Given the description of an element on the screen output the (x, y) to click on. 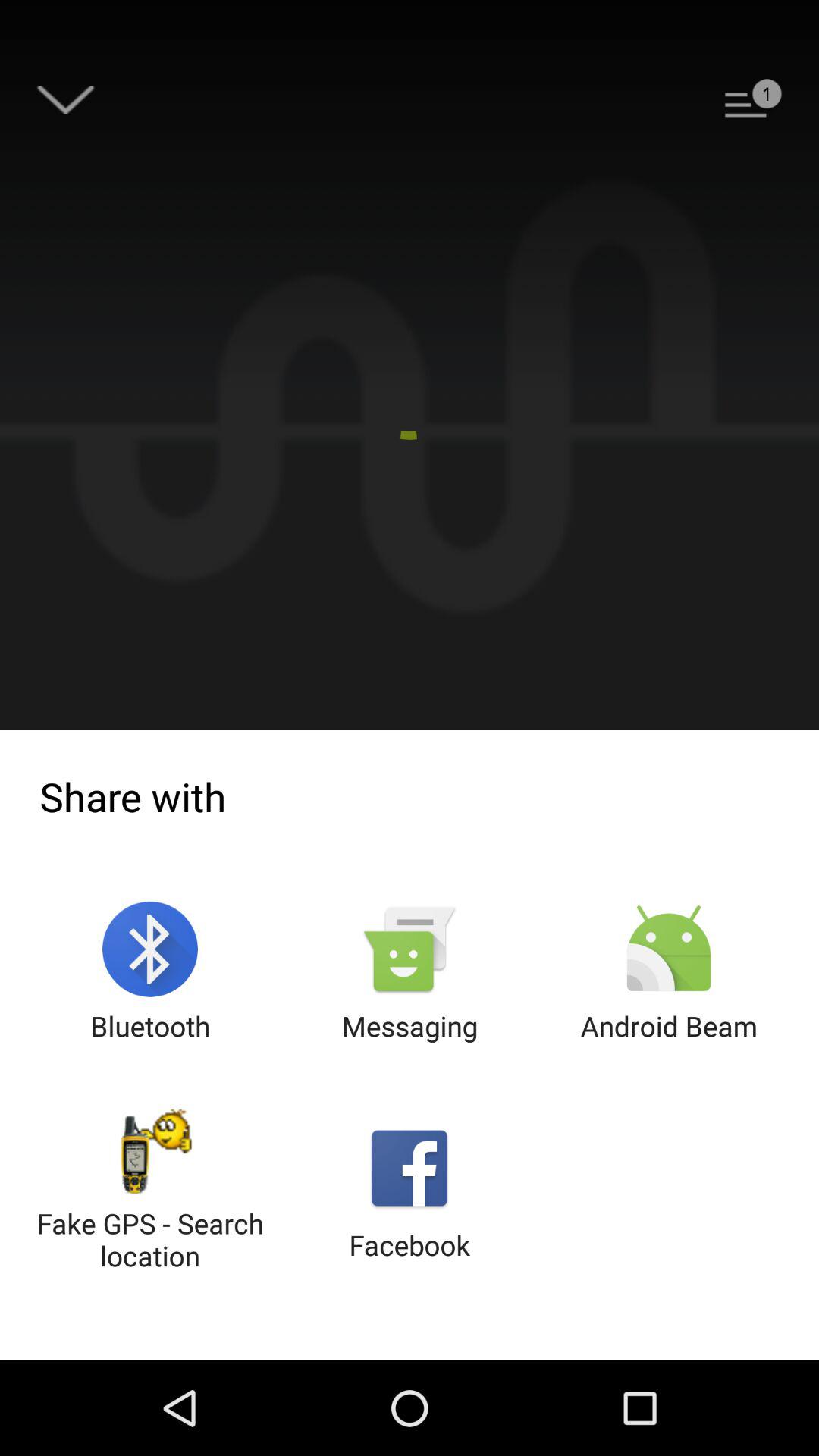
launch icon next to facebook (150, 1191)
